Given the description of an element on the screen output the (x, y) to click on. 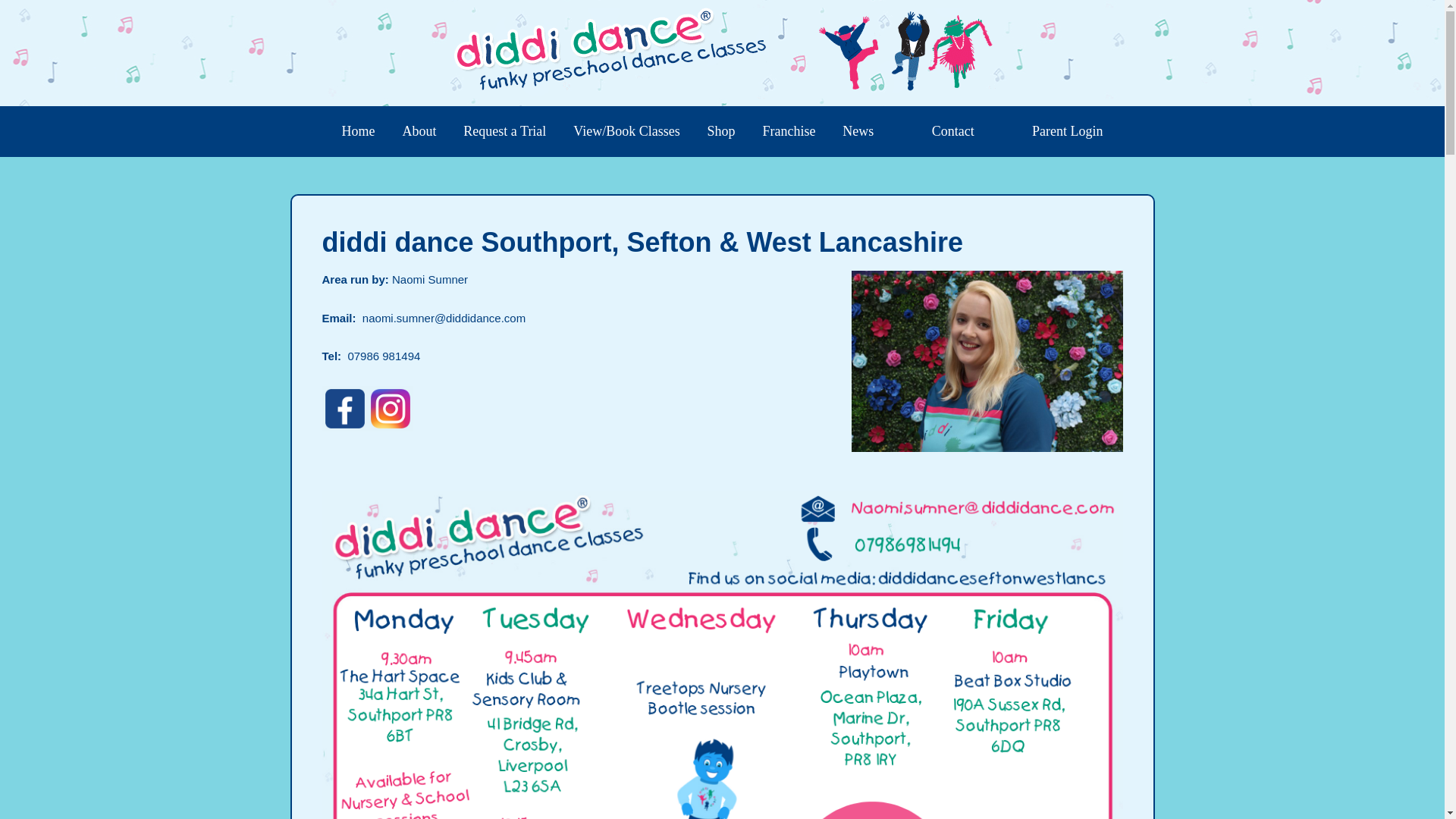
About (419, 131)
Shop (721, 131)
DIDDI DANCE (721, 52)
Request a Trial (504, 131)
Home (358, 131)
Franchise (788, 131)
News (857, 131)
Contact (953, 131)
Parent Login (1067, 131)
